Given the description of an element on the screen output the (x, y) to click on. 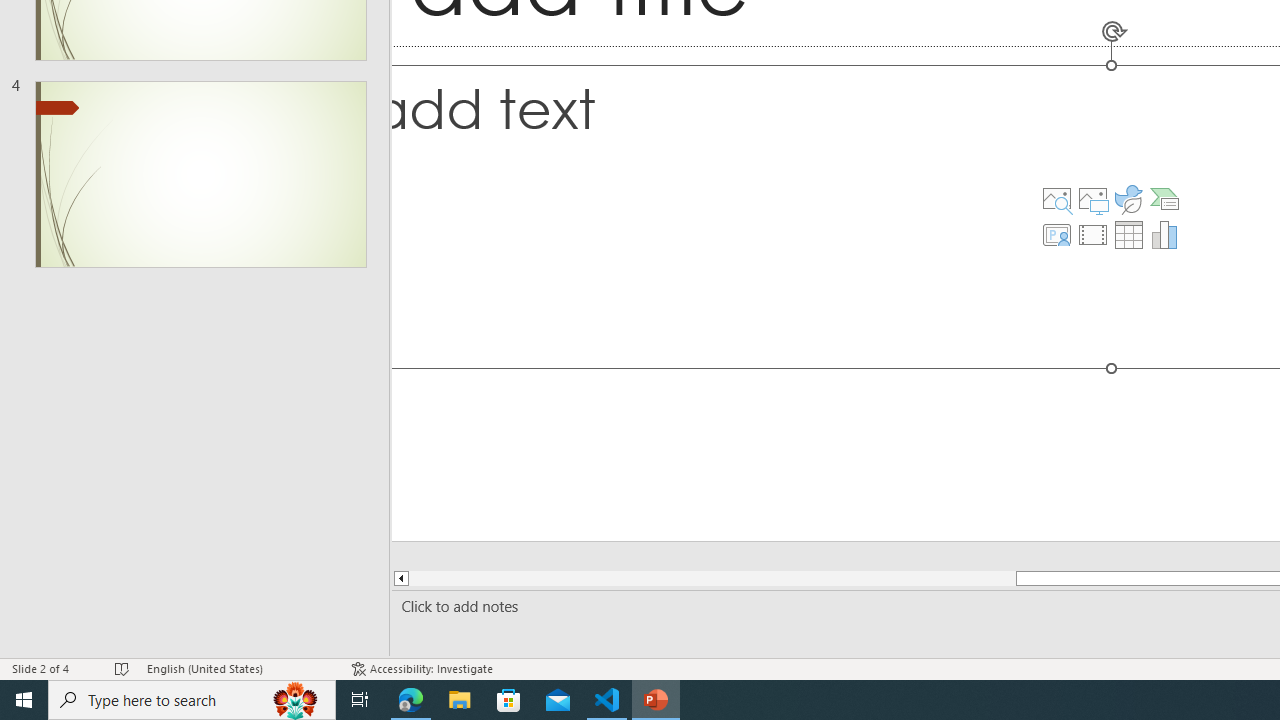
Insert Video (1092, 234)
Insert a SmartArt Graphic (1165, 198)
Insert an Icon (1129, 198)
Insert Chart (1165, 234)
Stock Images (1056, 198)
Insert Cameo (1056, 234)
Insert Table (1129, 234)
